Given the description of an element on the screen output the (x, y) to click on. 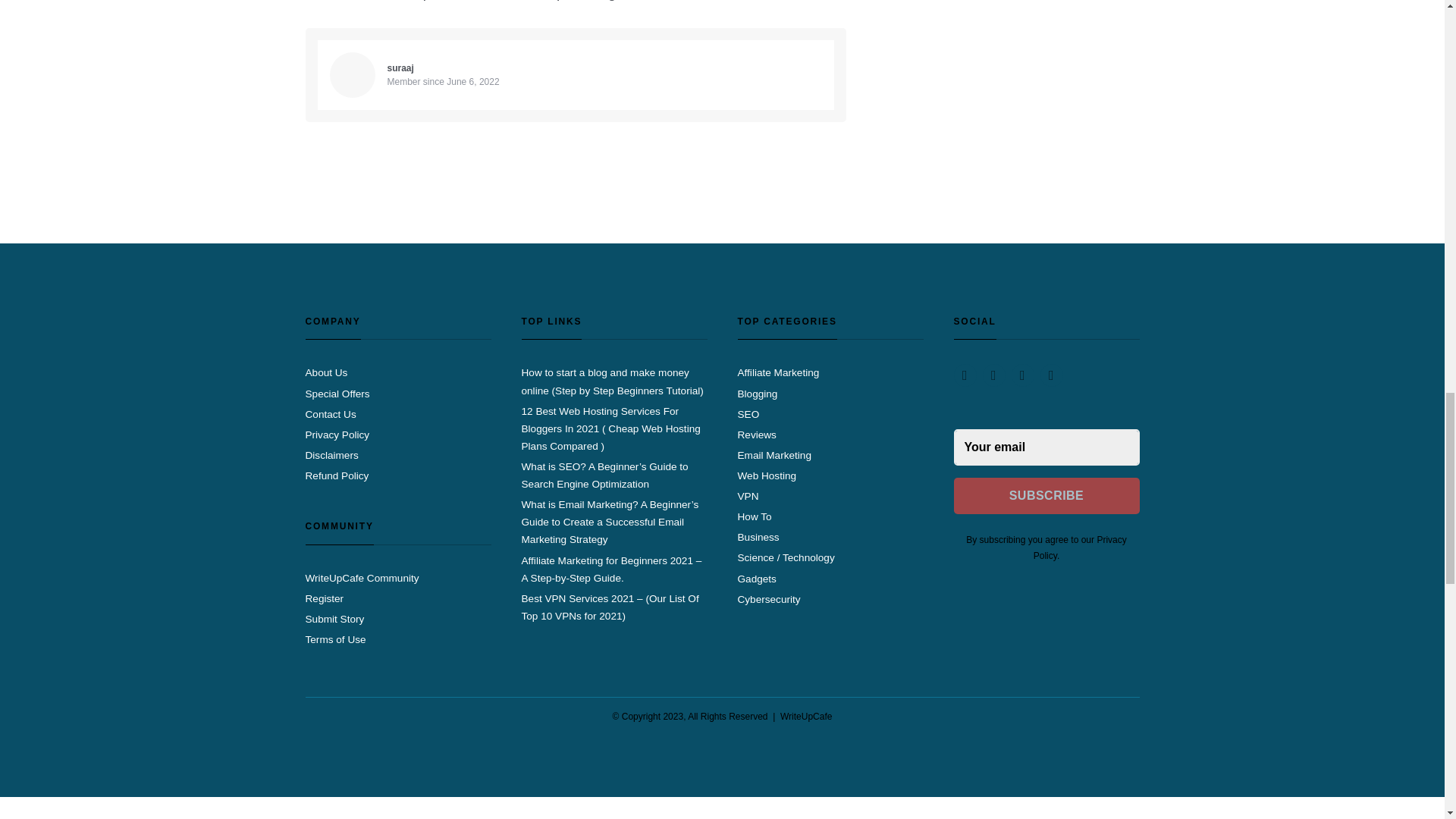
suraaj (400, 68)
